Given the description of an element on the screen output the (x, y) to click on. 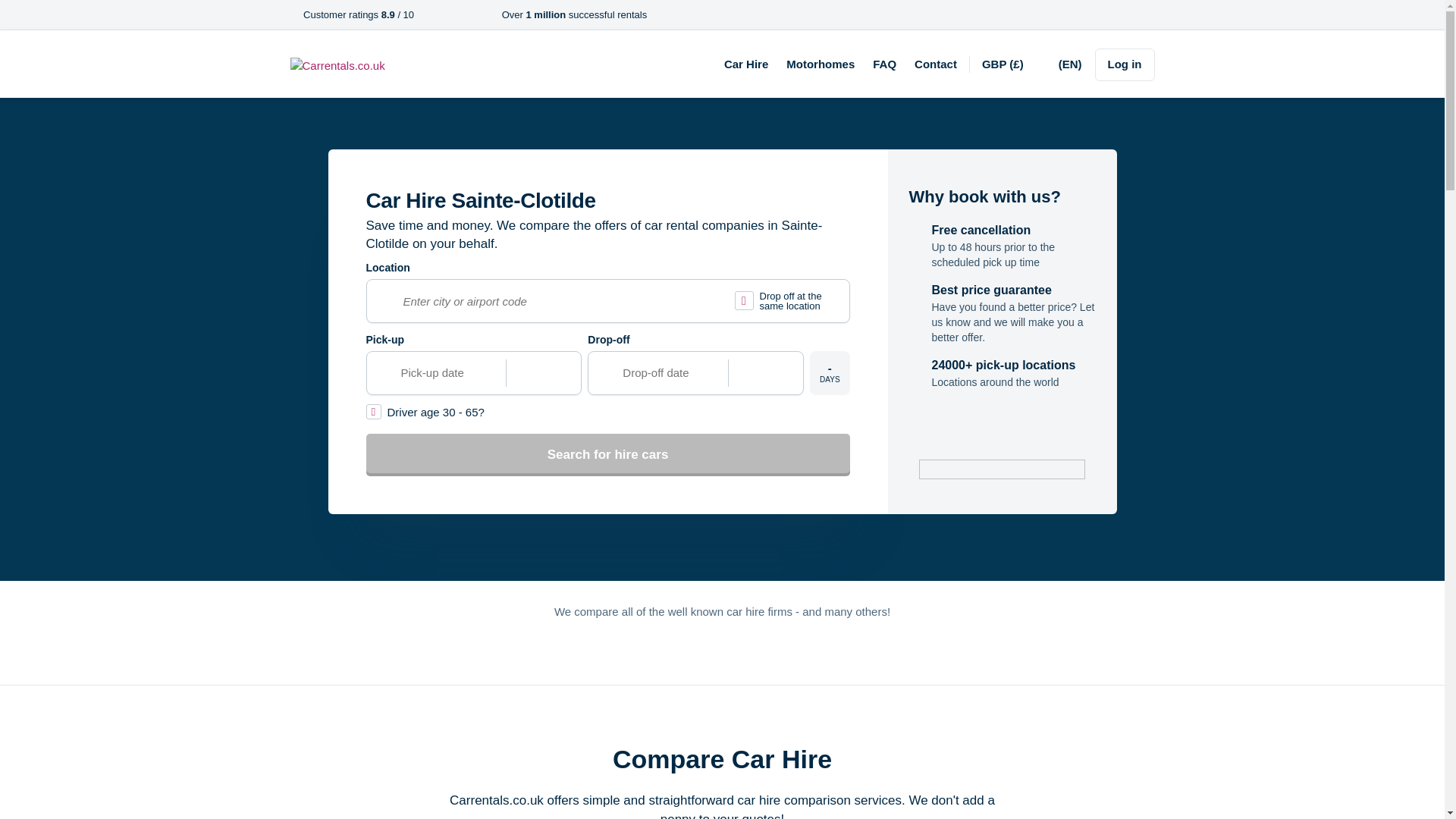
Contact (935, 63)
star-solid (443, 14)
Motorhomes (820, 63)
FAQ (884, 63)
Search for hire cars (606, 454)
star-solid (465, 14)
star-solid (454, 14)
check-solid (293, 14)
check-solid (491, 14)
star-solid (422, 14)
